Given the description of an element on the screen output the (x, y) to click on. 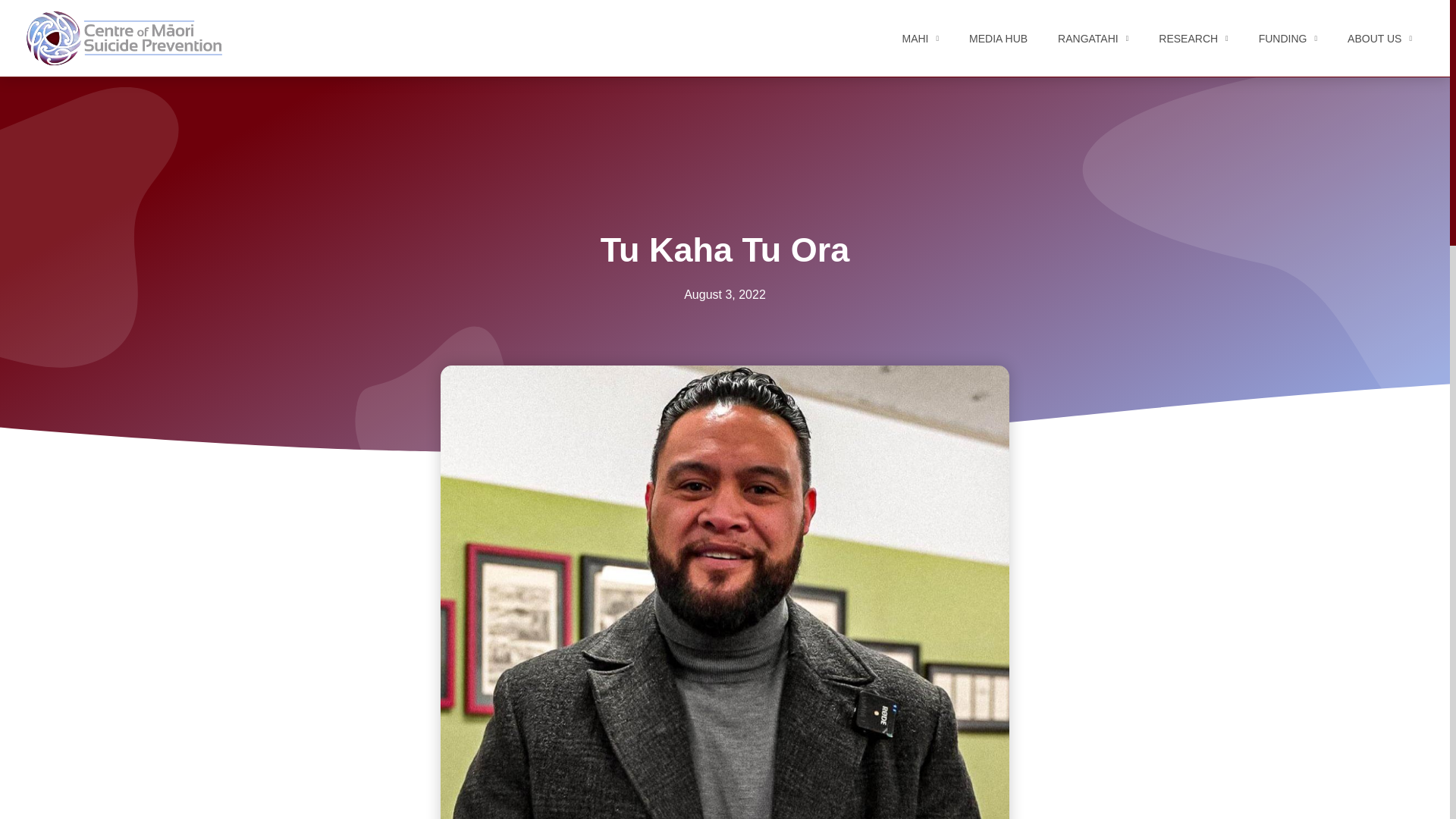
ABOUT US (1379, 31)
FUNDING (1287, 15)
MEDIA HUB (997, 2)
Rangatahi (1092, 38)
RESEARCH (1192, 12)
RANGATAHI (1092, 4)
